Given the description of an element on the screen output the (x, y) to click on. 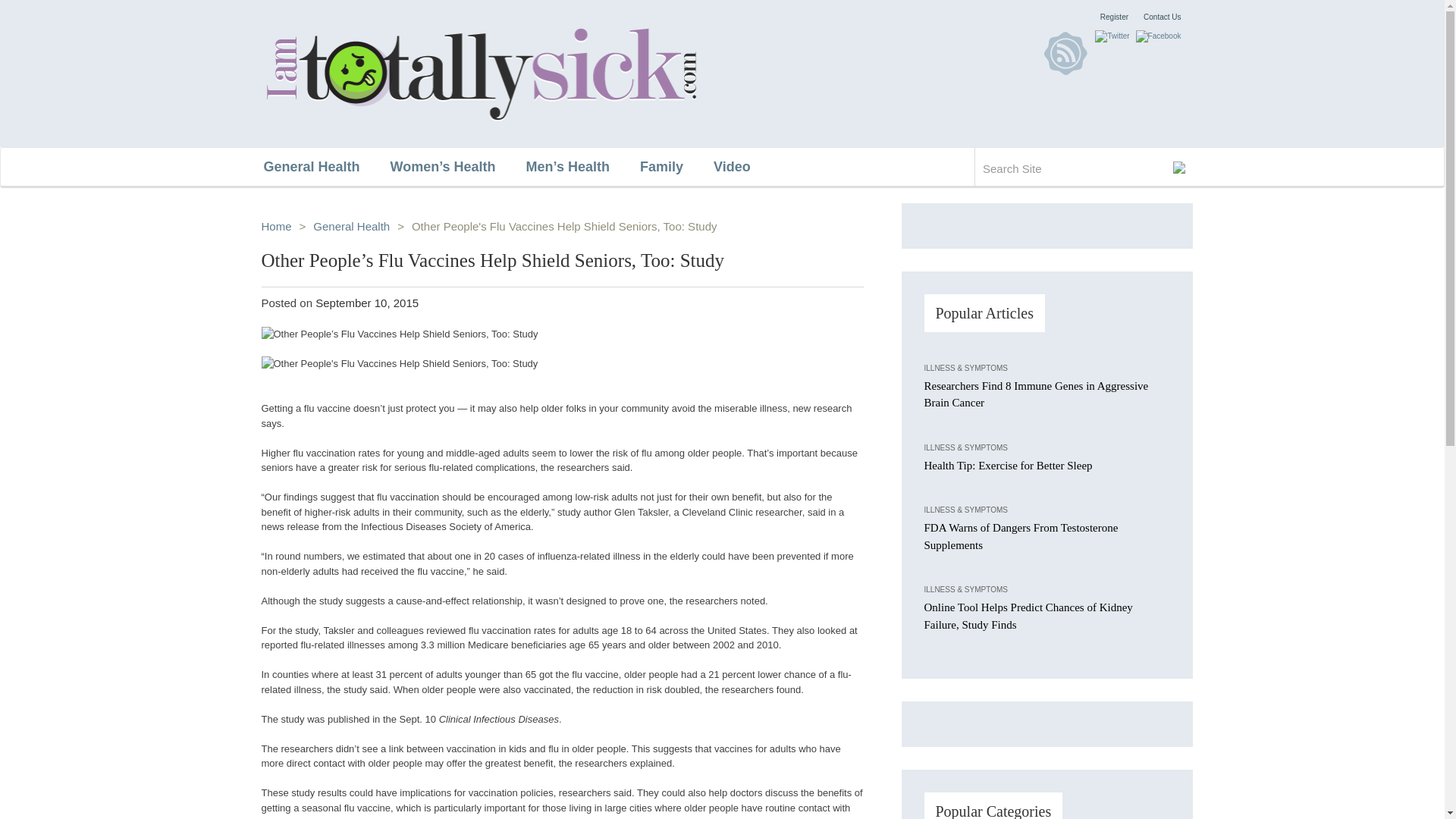
Video (746, 166)
Contact Us (1161, 17)
Health Tip: Exercise for Better Sleep (1007, 465)
Family (676, 166)
Home (275, 226)
Facebook (1157, 36)
Register (1114, 17)
RSS (1065, 53)
General Health (326, 166)
September 10, 2015 (367, 302)
Twitter (1111, 36)
FDA Warns of Dangers From Testosterone Supplements (1020, 536)
Researchers Find 8 Immune Genes in Aggressive Brain Cancer (1035, 394)
General Health (351, 226)
